Given the description of an element on the screen output the (x, y) to click on. 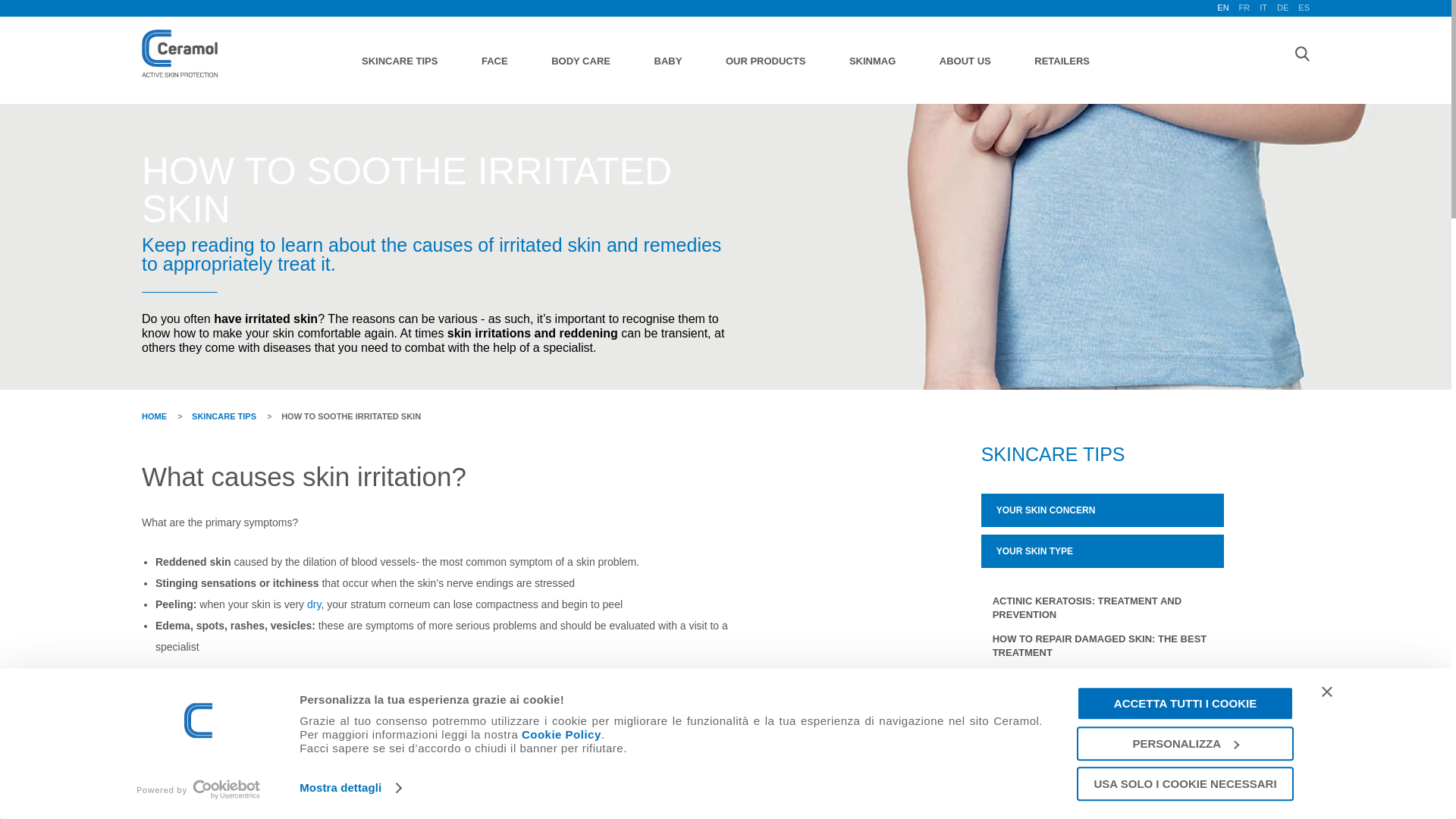
PERSONALIZZA (1185, 743)
Mostra dettagli (350, 787)
USA SOLO I COOKIE NECESSARI (1185, 783)
ACCETTA TUTTI I COOKIE (1185, 703)
Search our store (1301, 53)
EN (1222, 8)
Cookie Policy (561, 734)
